Given the description of an element on the screen output the (x, y) to click on. 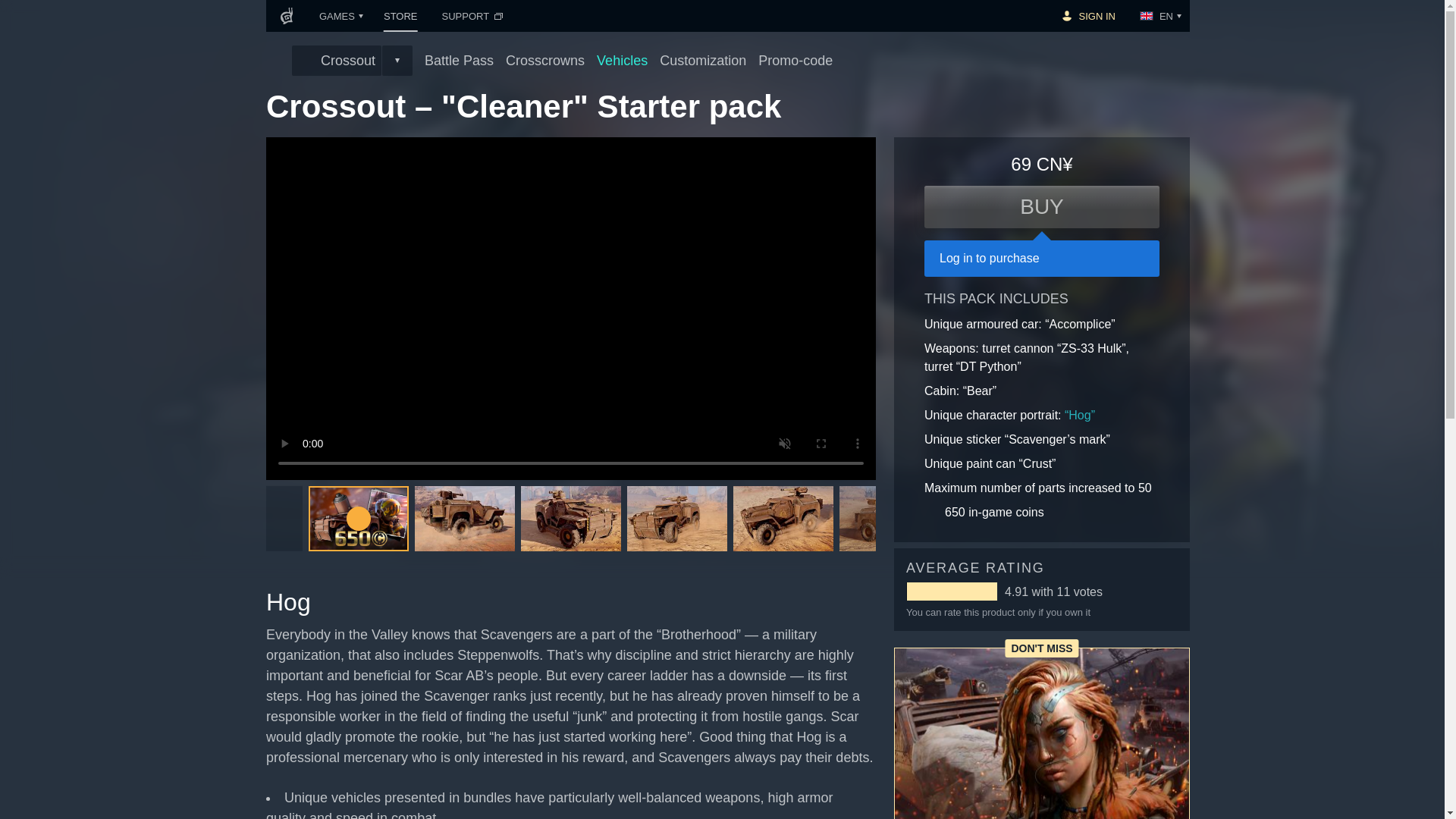
STORE (400, 15)
Promo-code (802, 59)
Crossout (336, 60)
Hog (1079, 414)
Crosscrowns (545, 59)
SIGN IN (1087, 15)
Vehicles (621, 59)
SUPPORT (472, 15)
Customization (702, 59)
Battle Pass (459, 59)
BUY (1041, 206)
